Given the description of an element on the screen output the (x, y) to click on. 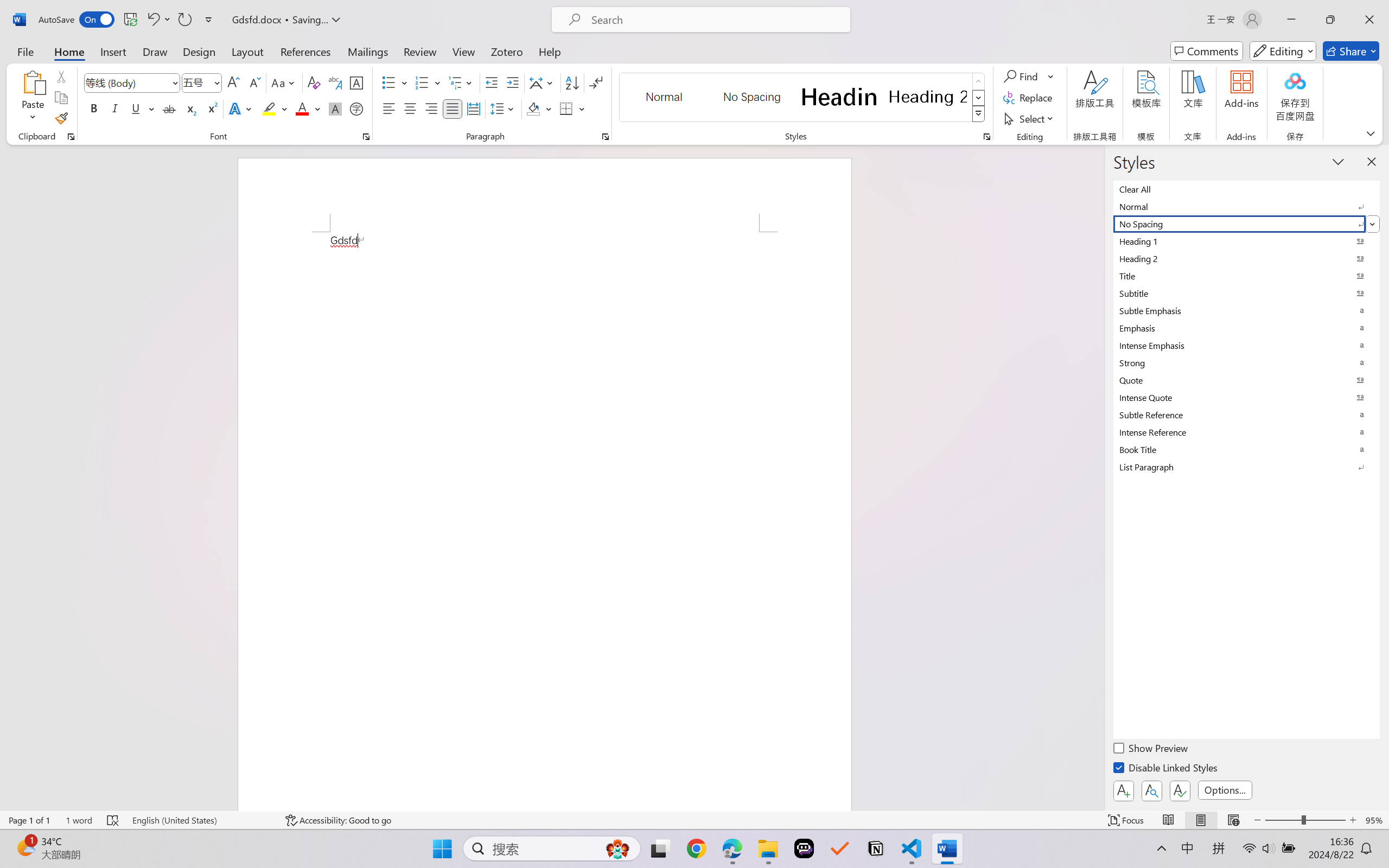
Replace... (1029, 97)
Show Preview (1151, 749)
Change Case (284, 82)
Strikethrough (169, 108)
Class: MsoCommandBar (694, 819)
Disable Linked Styles (1166, 769)
Emphasis (1246, 327)
Multilevel List (461, 82)
Character Shading (334, 108)
